Given the description of an element on the screen output the (x, y) to click on. 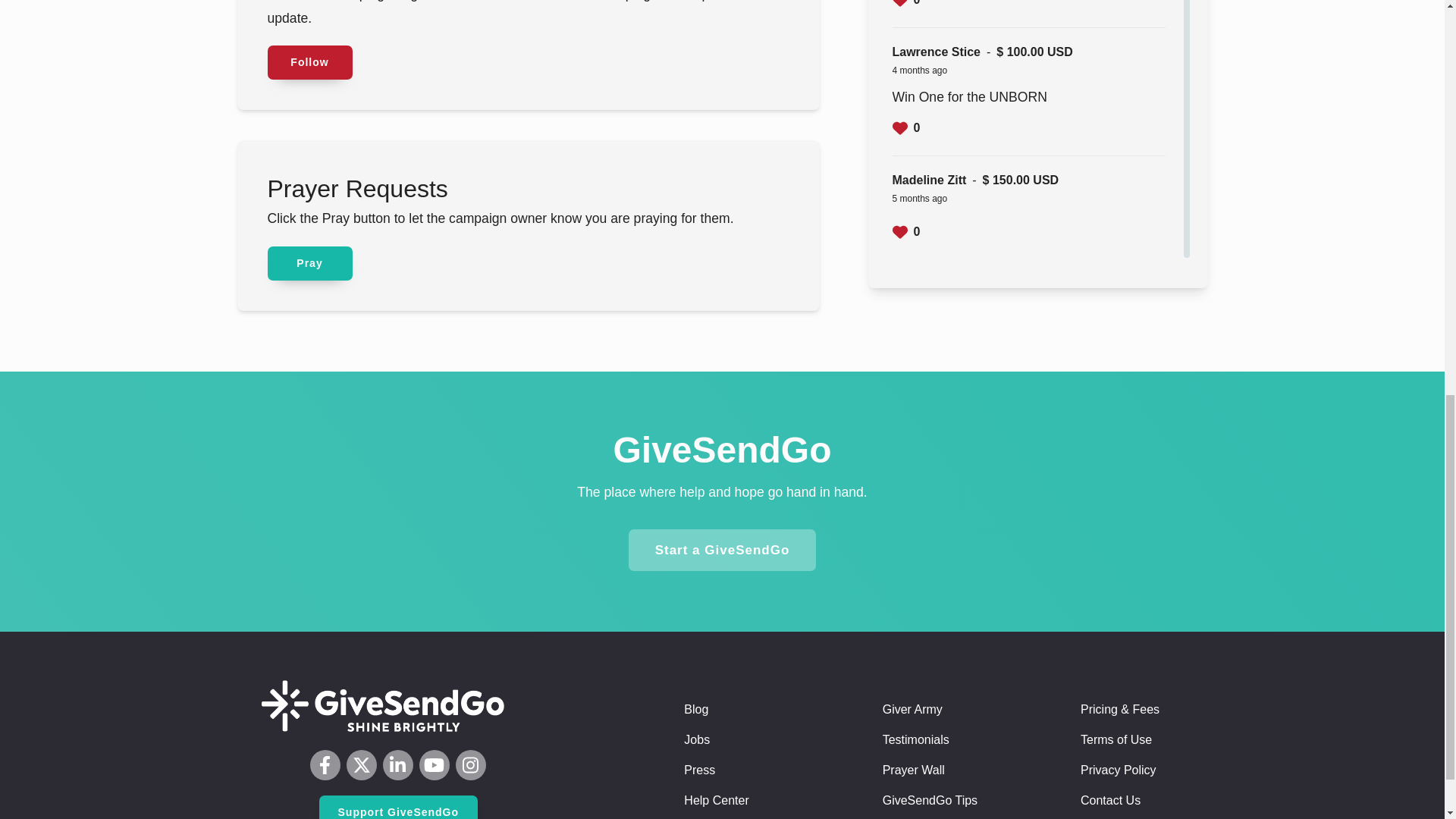
Pray (309, 263)
0 (905, 4)
Follow (309, 62)
